Given the description of an element on the screen output the (x, y) to click on. 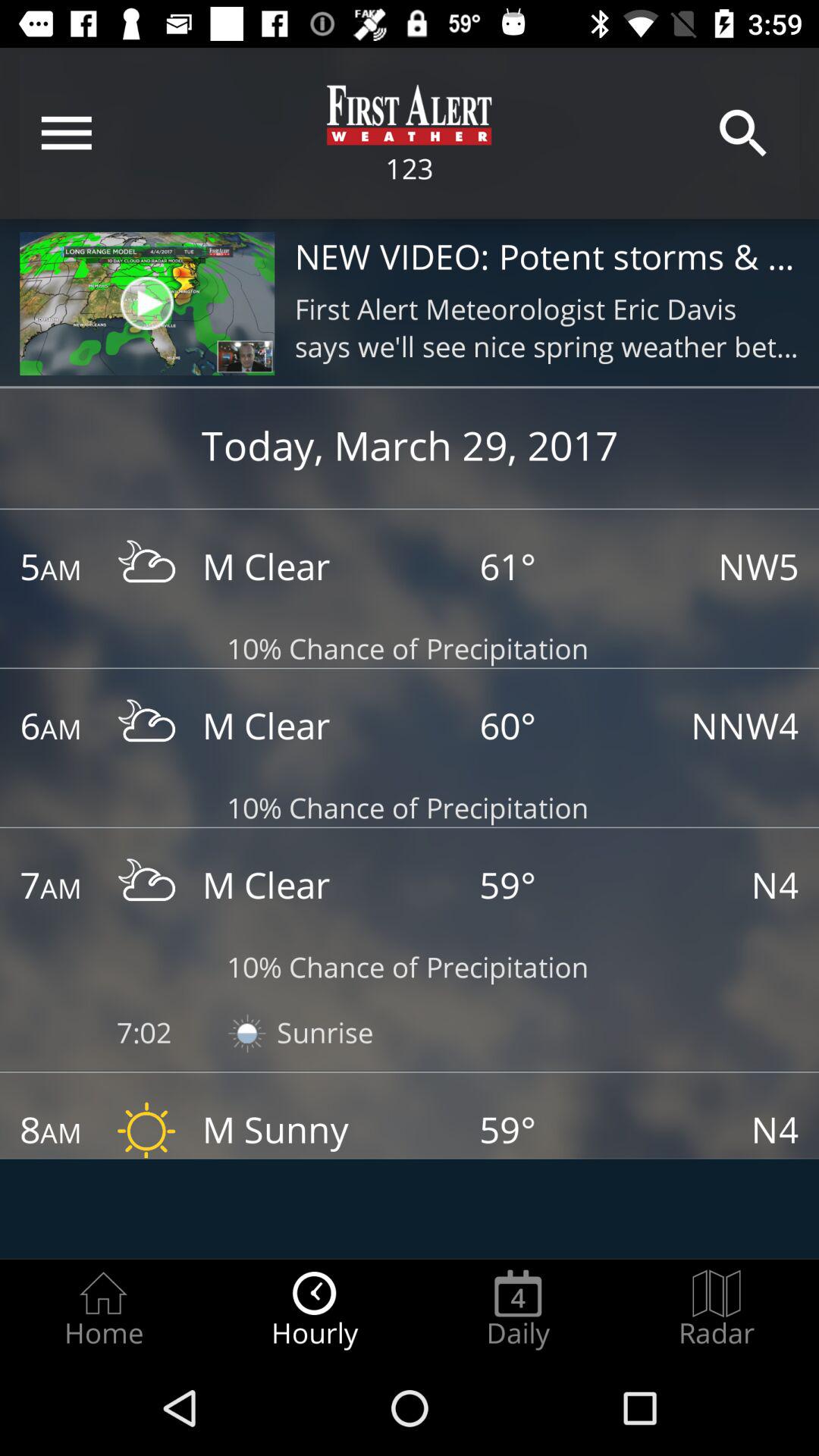
choose the radio button to the left of hourly item (103, 1309)
